Given the description of an element on the screen output the (x, y) to click on. 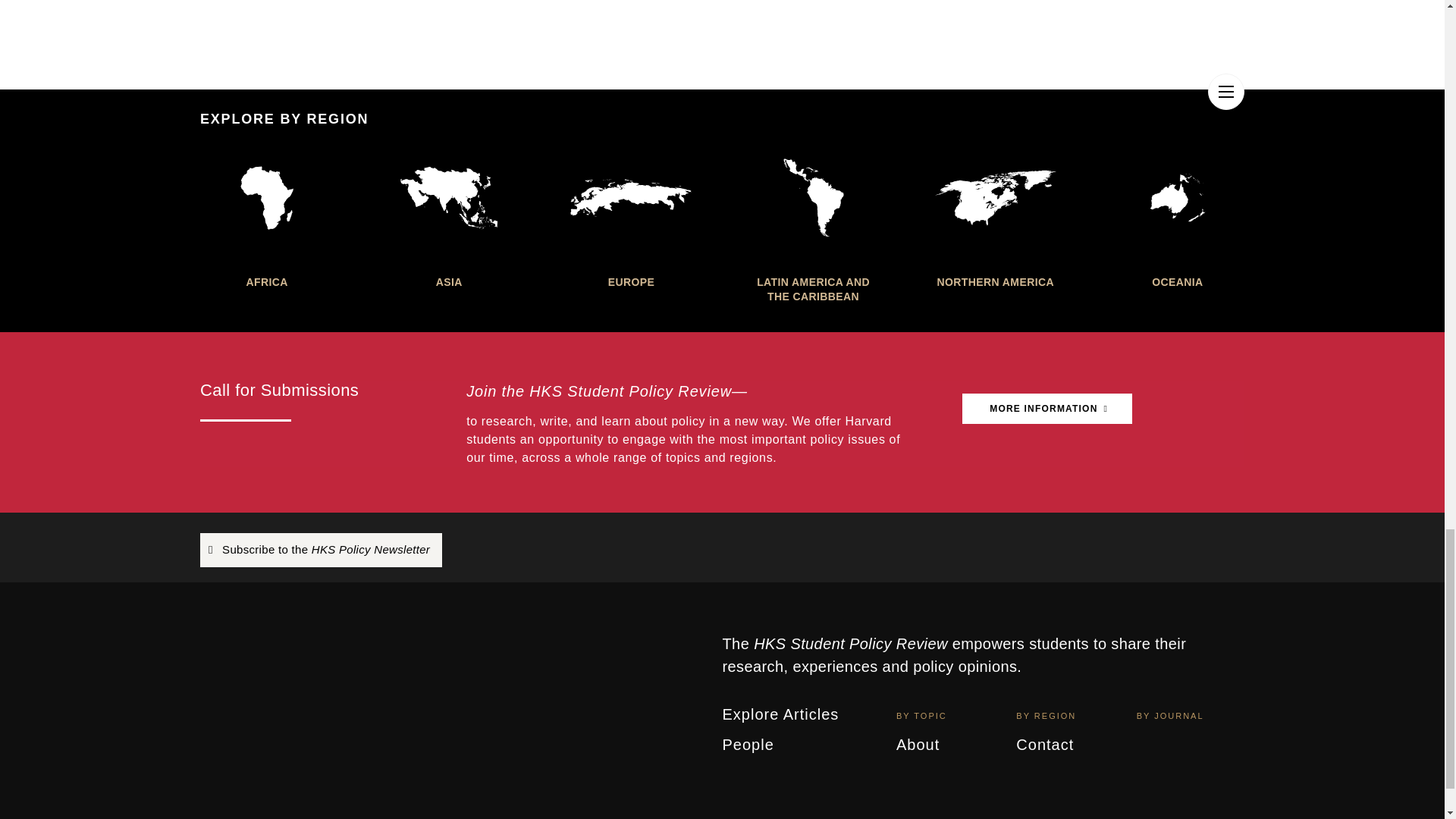
ASIA (448, 217)
AFRICA (266, 217)
EUROPE (630, 217)
